Given the description of an element on the screen output the (x, y) to click on. 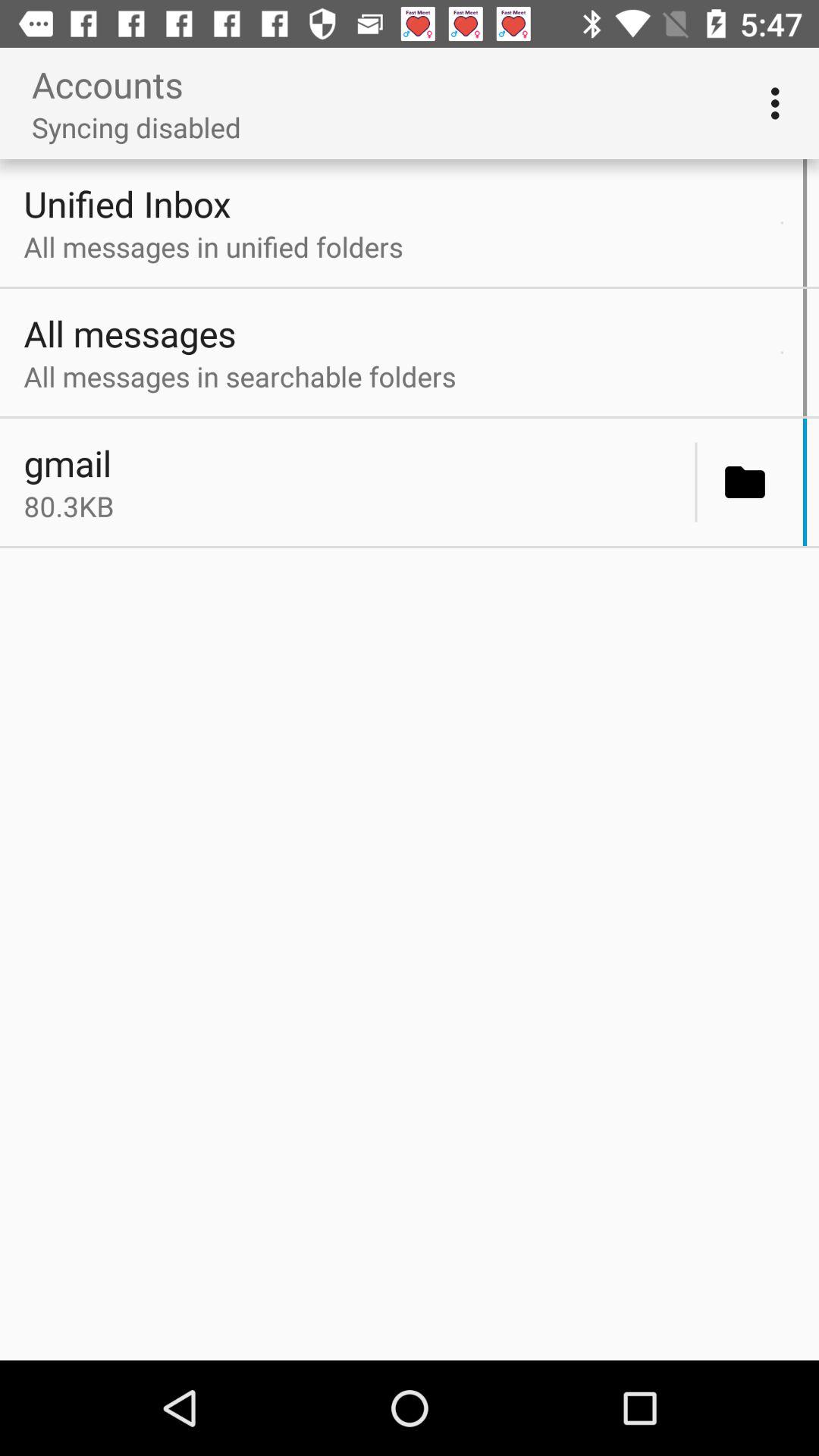
turn off icon to the right of gmail item (696, 482)
